Given the description of an element on the screen output the (x, y) to click on. 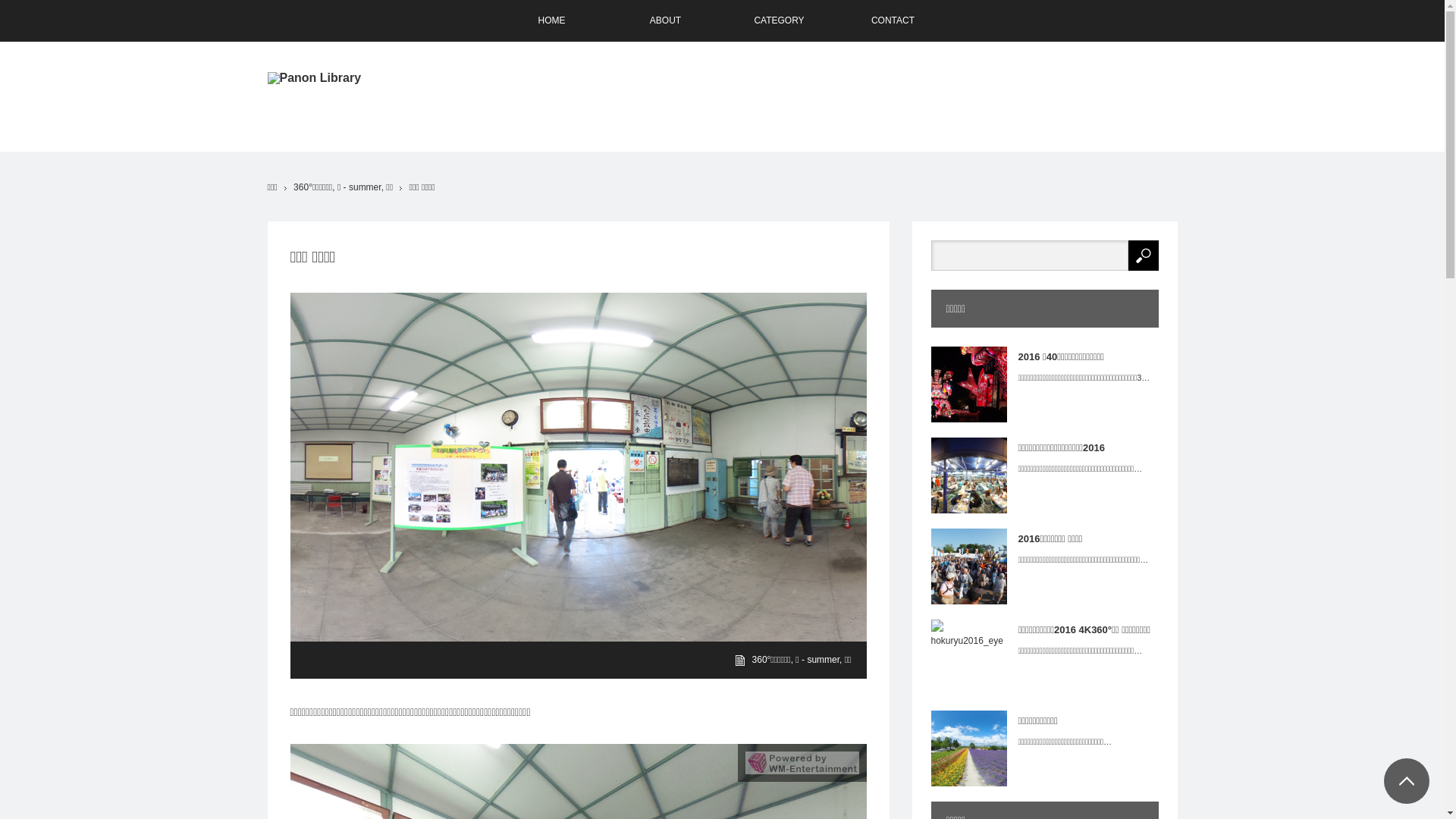
HOME Element type: text (551, 20)
PAGE TOP Element type: text (1406, 780)
CONTACT Element type: text (892, 20)
CATEGORY Element type: text (778, 20)
ABOUT Element type: text (664, 20)
Panon Library Element type: hover (313, 78)
